Given the description of an element on the screen output the (x, y) to click on. 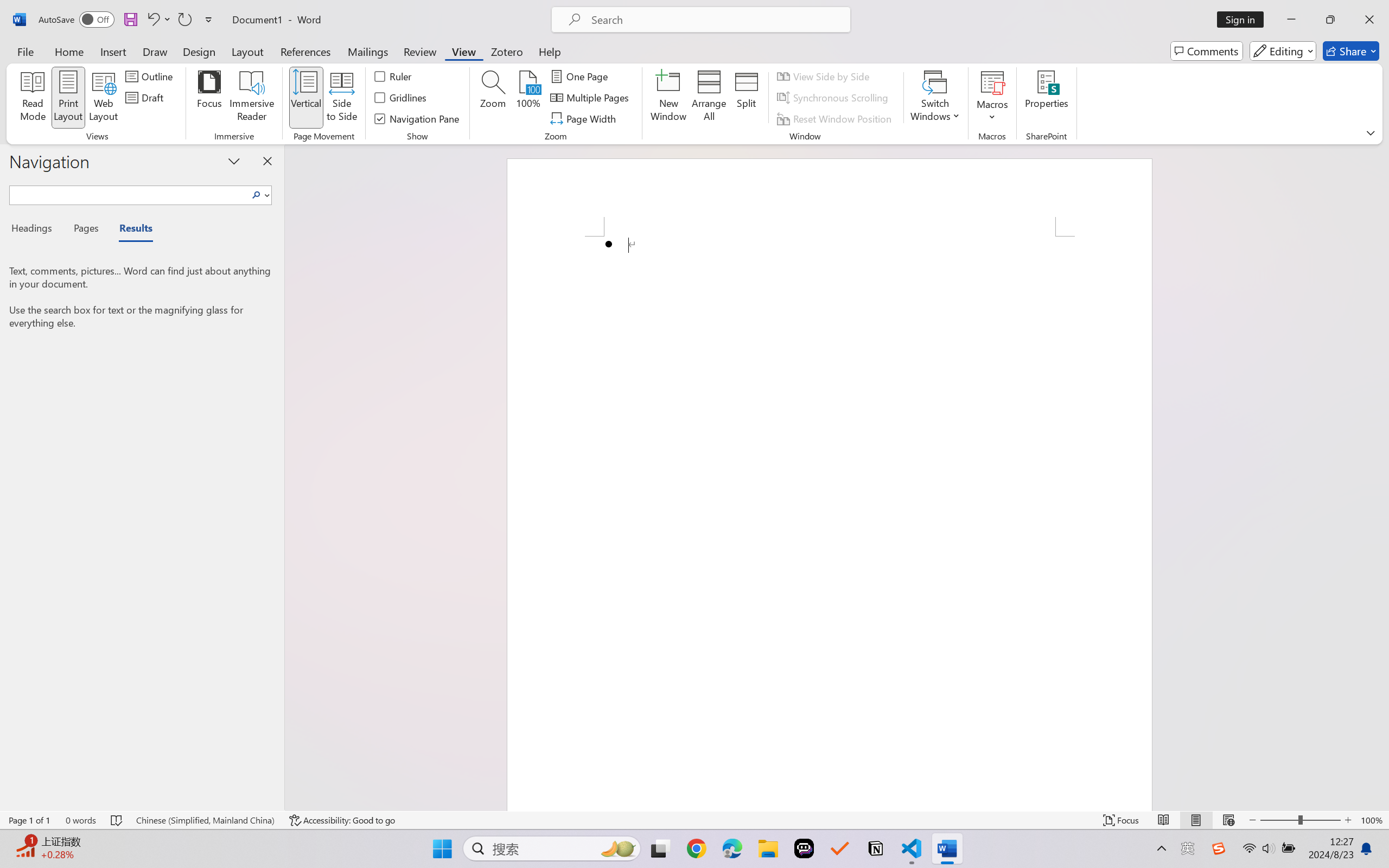
Page Width (584, 118)
Vertical (305, 97)
Split (746, 97)
Zoom... (492, 97)
Focus (209, 97)
Outline (150, 75)
Side to Side (342, 97)
